Given the description of an element on the screen output the (x, y) to click on. 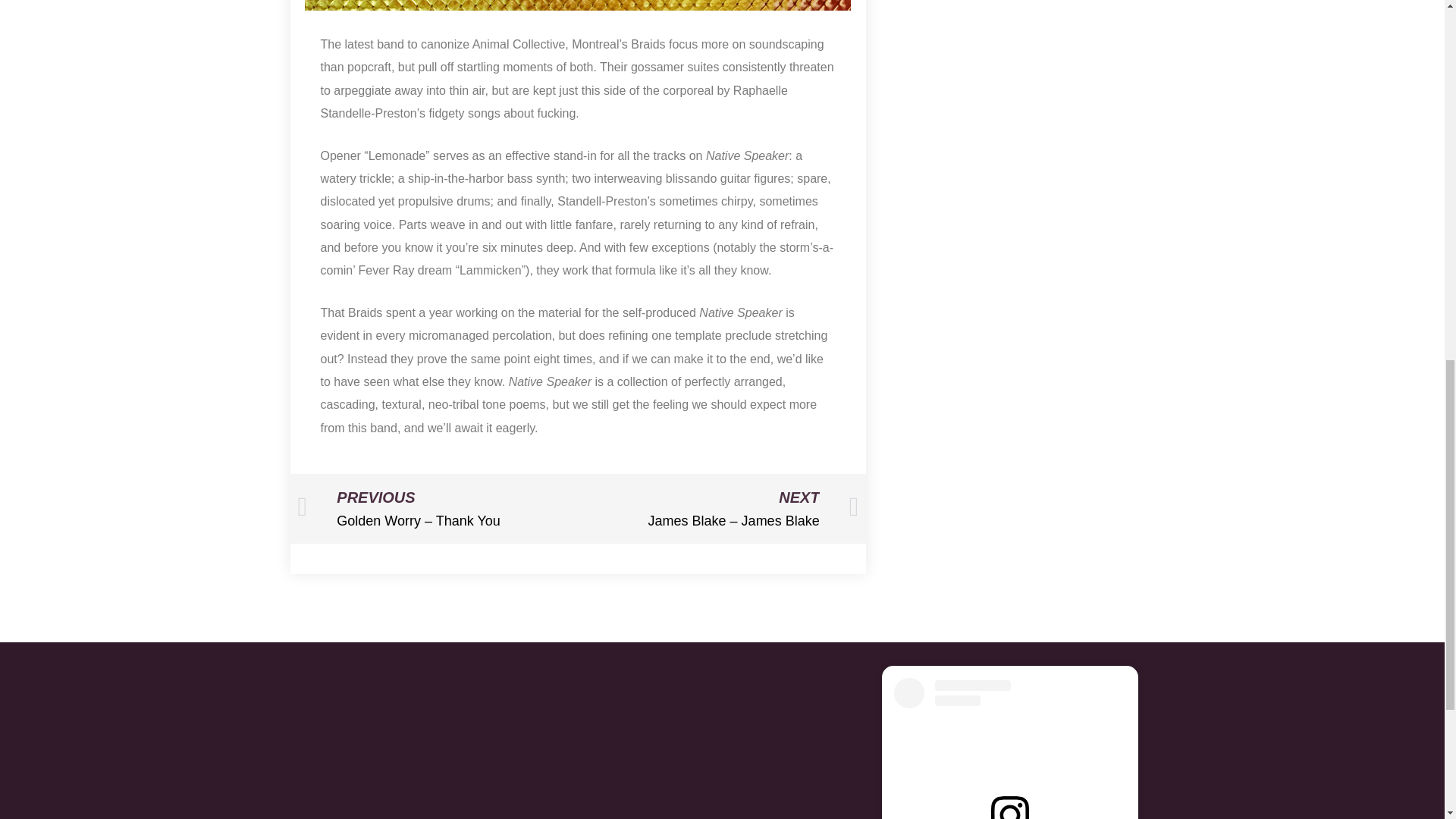
Twitter Timeline (721, 742)
